Given the description of an element on the screen output the (x, y) to click on. 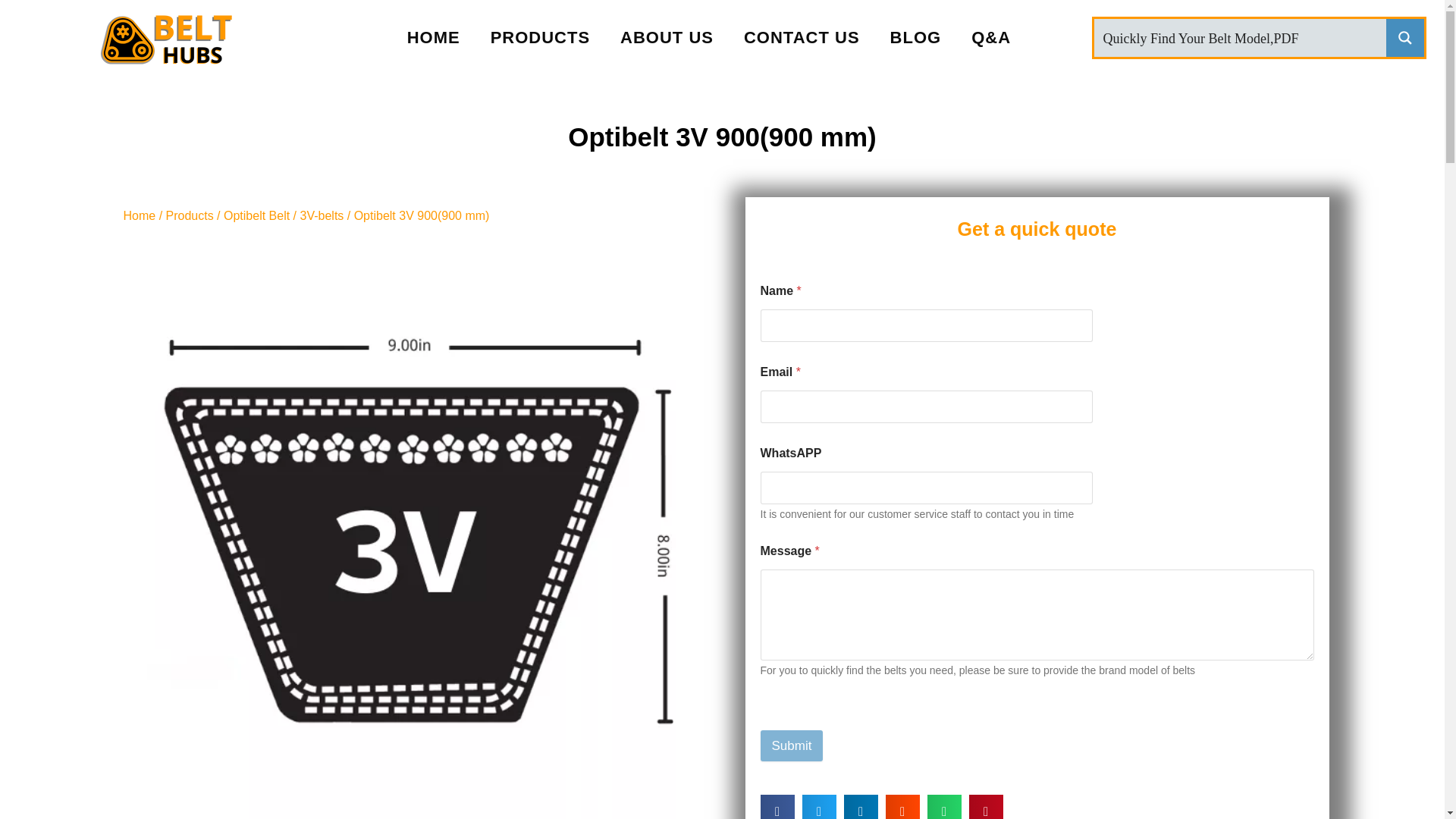
HOME (433, 37)
PRODUCTS (540, 37)
